Given the description of an element on the screen output the (x, y) to click on. 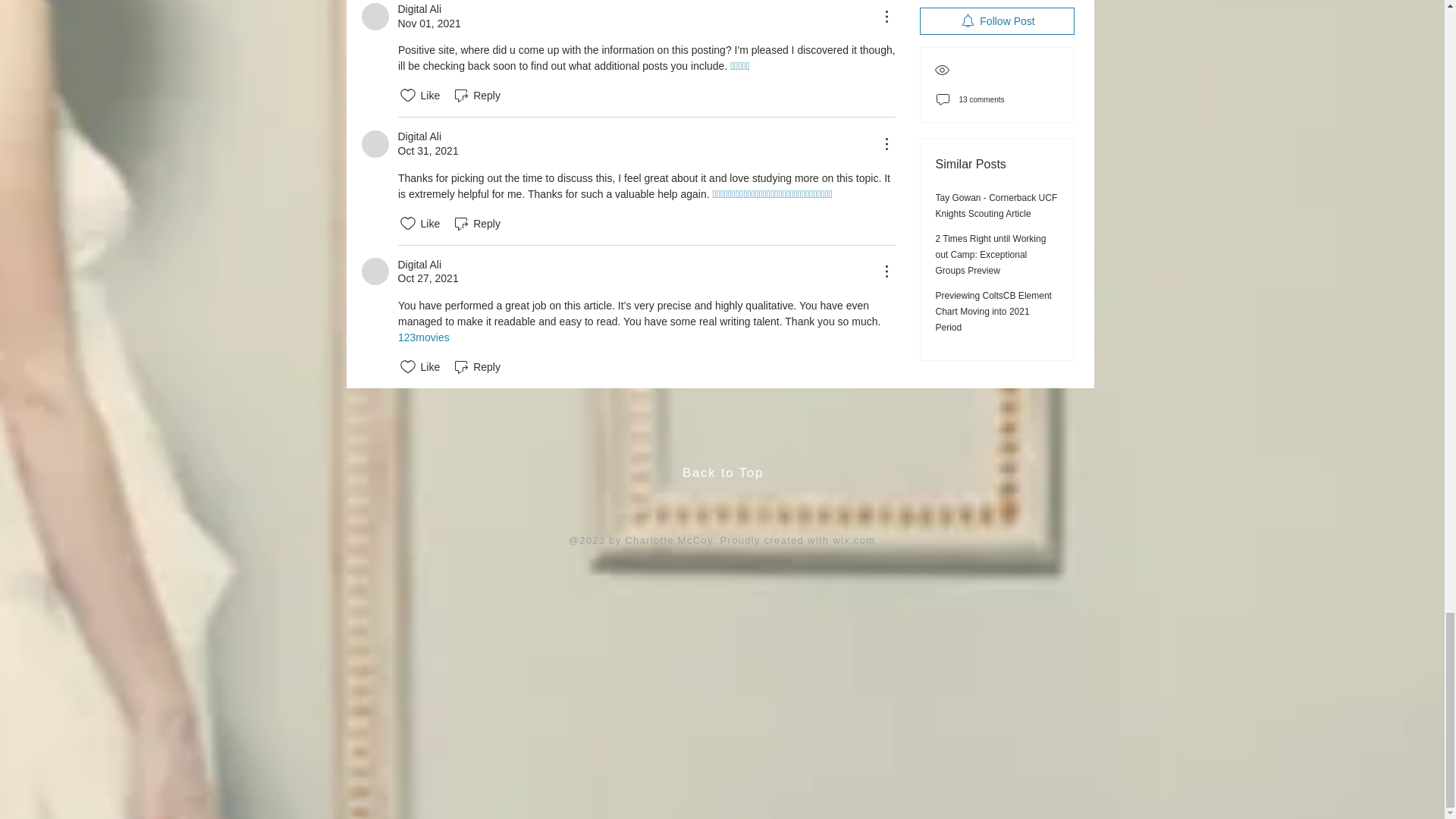
Digital Ali (374, 271)
Digital Ali (374, 16)
Digital Ali (374, 144)
